Given the description of an element on the screen output the (x, y) to click on. 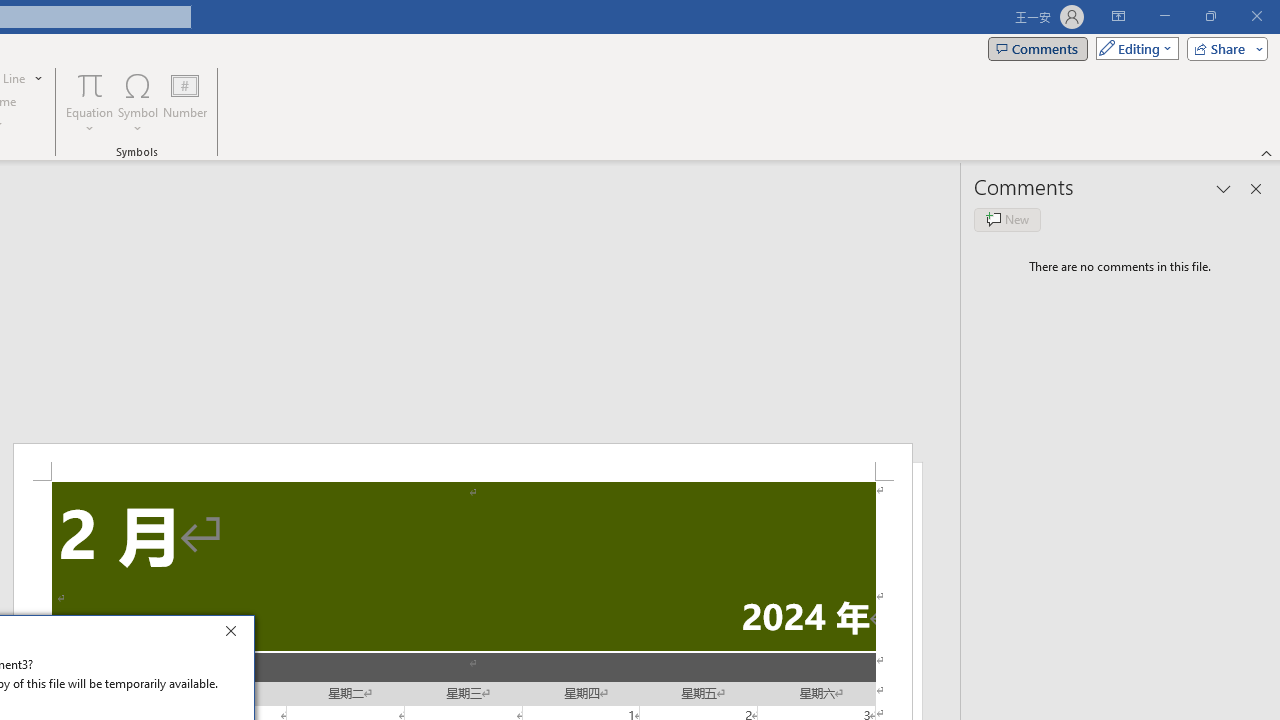
Number... (185, 102)
Close pane (1256, 188)
New comment (1007, 219)
Equation (90, 102)
